Given the description of an element on the screen output the (x, y) to click on. 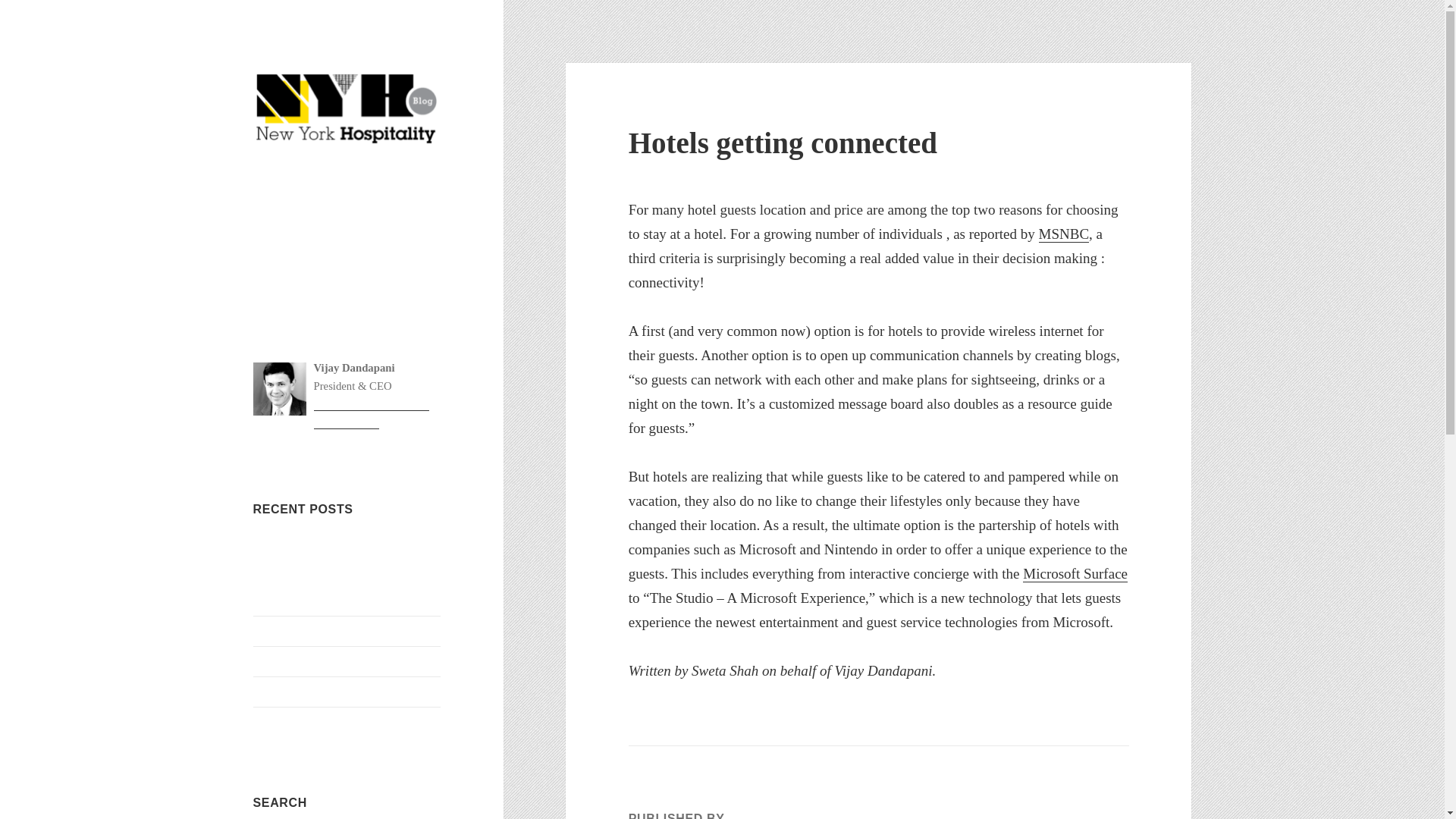
MSNBC (1064, 234)
Supersonic take off for Lodging? (333, 630)
Airbnb and the grabbing economy (336, 721)
Up Close and Personal Digitally (331, 690)
Hotel Association of New York City, Inc. (371, 413)
Microsoft Surface (1074, 573)
New York Hospitality by Vijay Dandapani (347, 198)
